Given the description of an element on the screen output the (x, y) to click on. 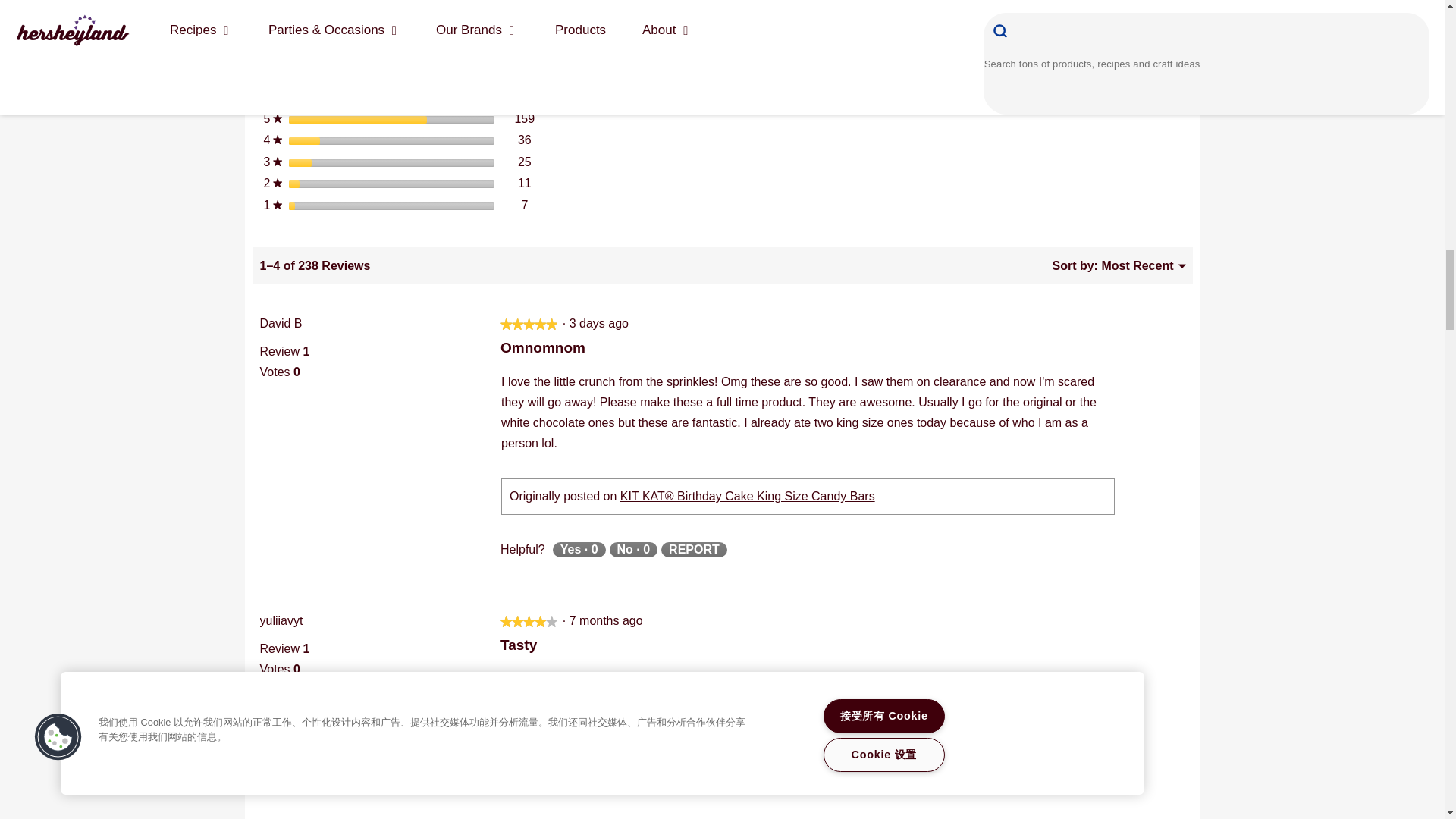
5 out of 5 stars. (528, 324)
4 out of 5 stars. (523, 621)
4 out of 5 stars. (528, 621)
